Given the description of an element on the screen output the (x, y) to click on. 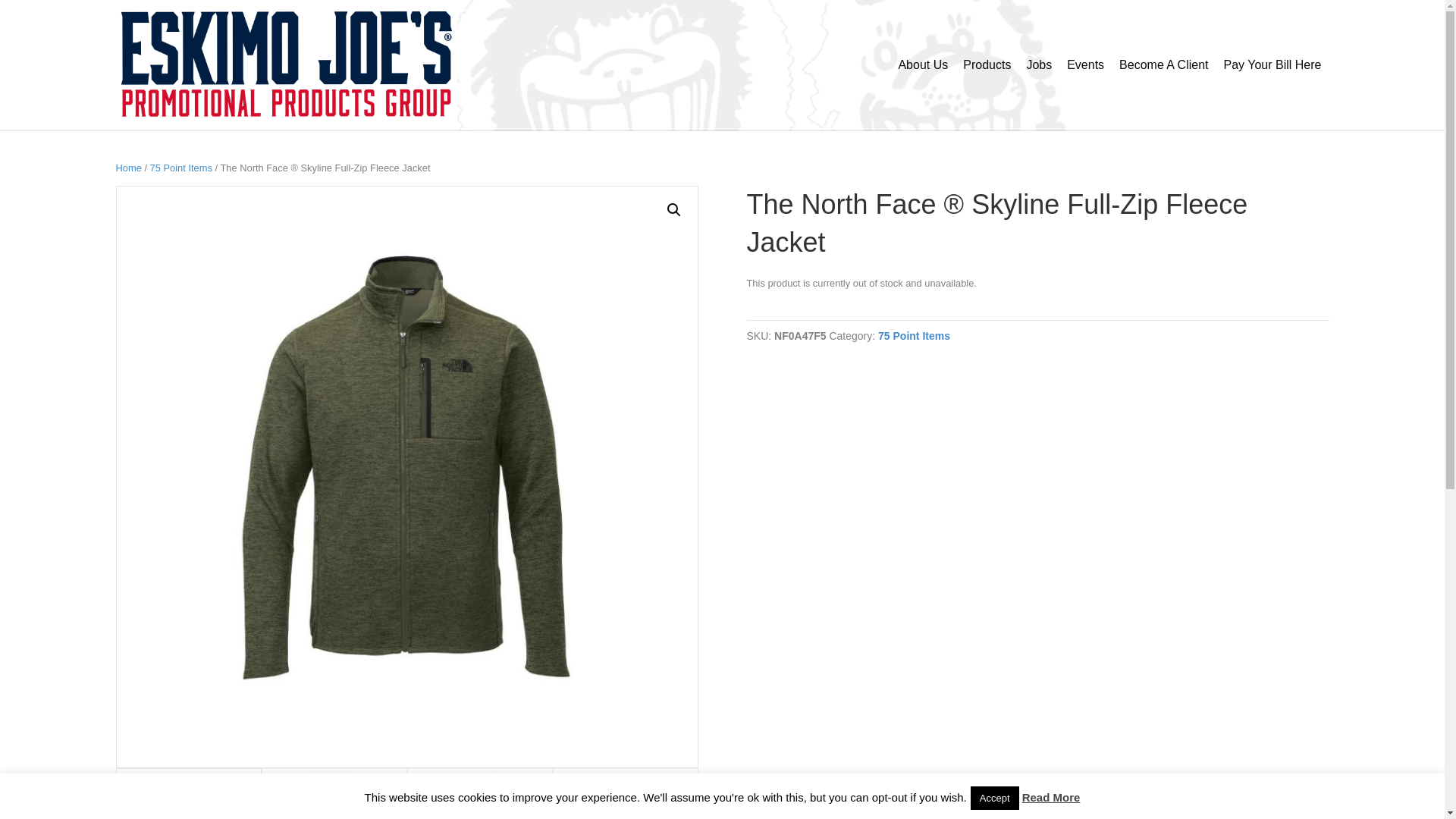
75 Point Items (180, 167)
About Us (922, 65)
Products (986, 65)
Events (1085, 65)
Home (128, 167)
Read More (1051, 797)
Become A Client (1163, 65)
Jobs (1038, 65)
Accept (995, 797)
75 Point Items (913, 336)
Pay Your Bill Here (1272, 65)
